Given the description of an element on the screen output the (x, y) to click on. 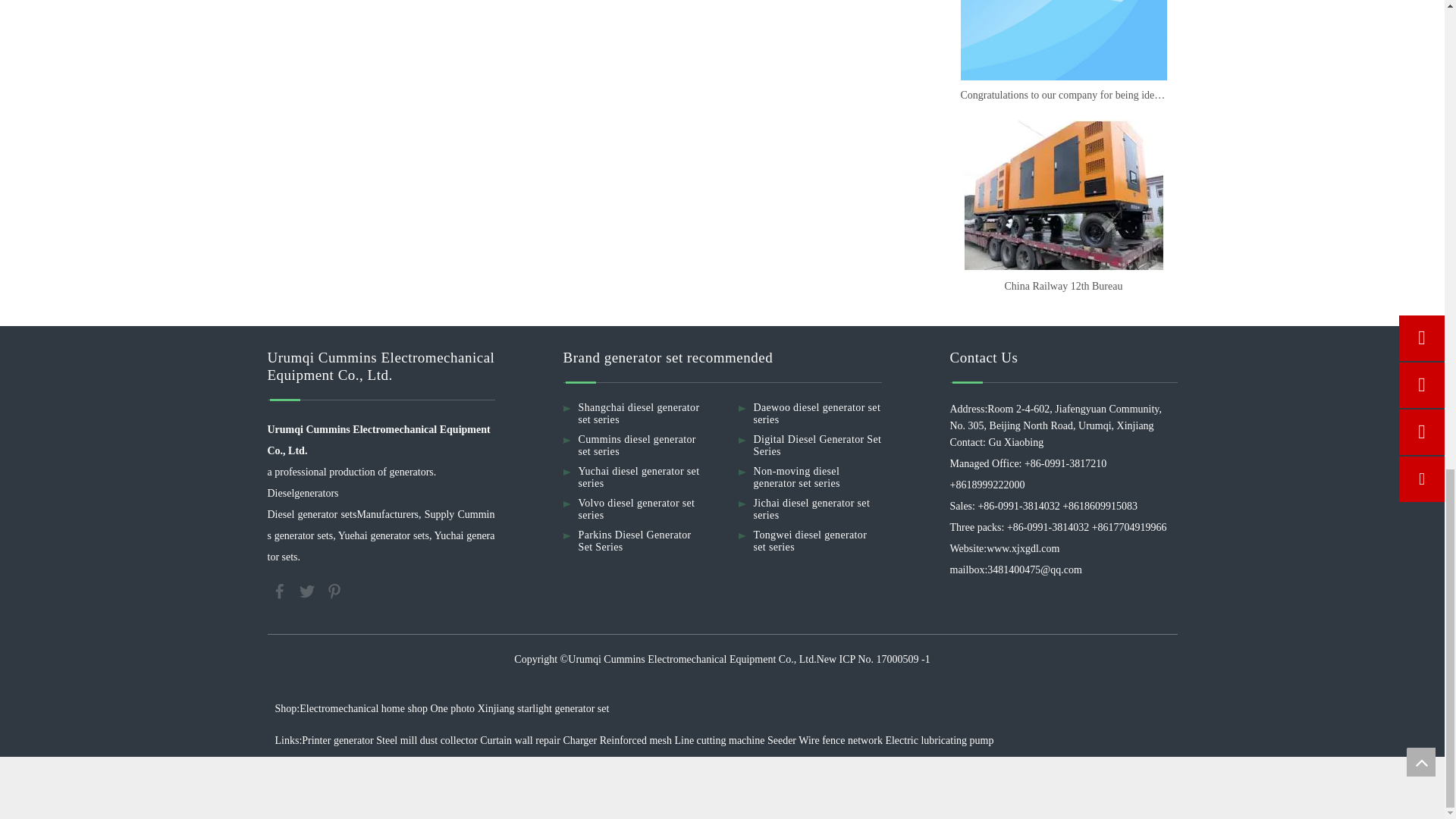
Yuchai diesel generator set series (638, 477)
Parkins Diesel Generator Set Series (634, 540)
China Railway 12th Bureau (1062, 286)
China Railway 12th Bureau (1062, 195)
Twitter (307, 589)
Pinterest (333, 589)
Cummins diesel generator set series (636, 445)
Shangchai diesel generator set series (638, 413)
Facebook (280, 589)
Volvo diesel generator set series (636, 508)
